Given the description of an element on the screen output the (x, y) to click on. 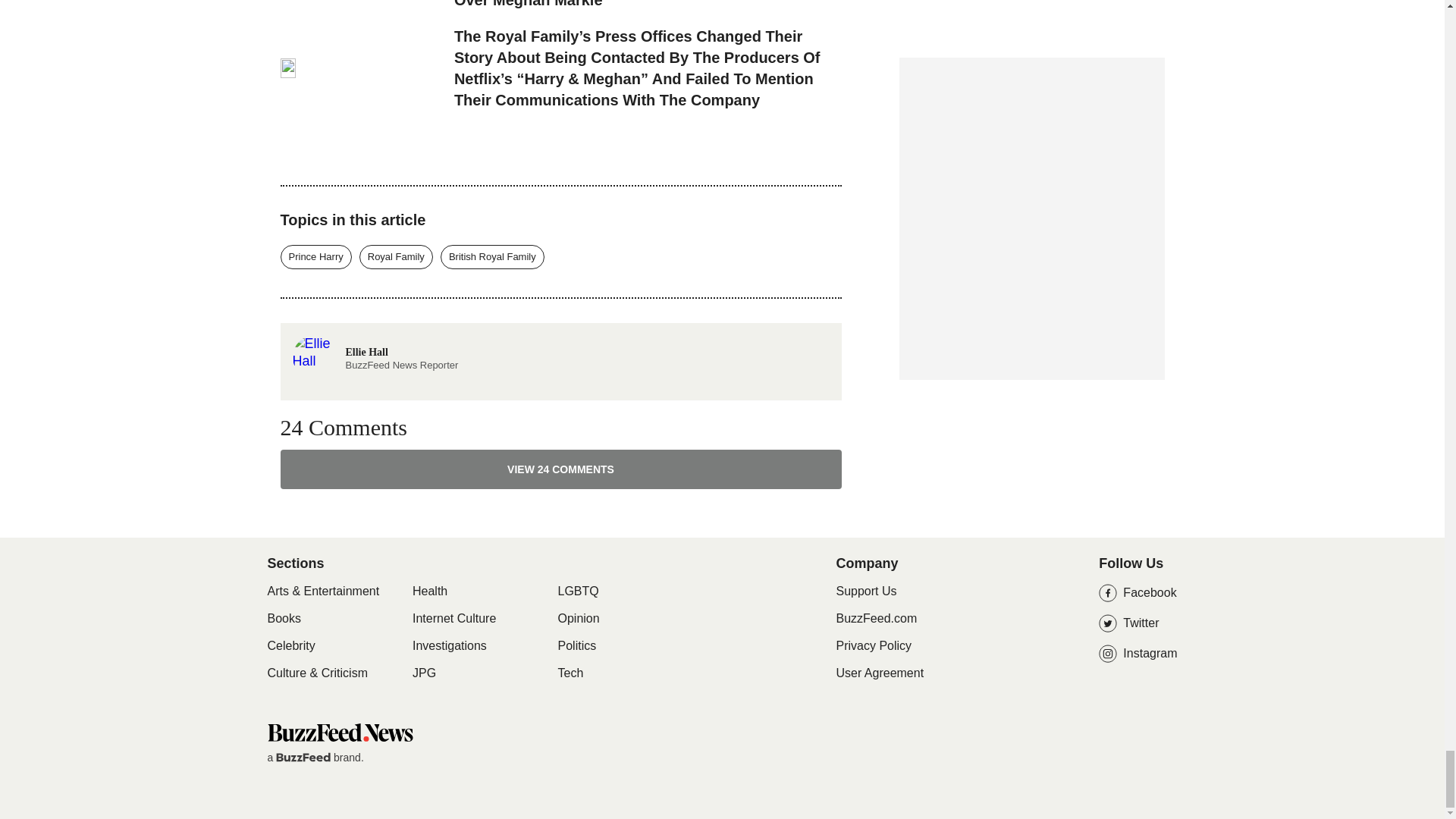
BuzzFeed (303, 757)
BuzzFeed News Home (339, 732)
